Given the description of an element on the screen output the (x, y) to click on. 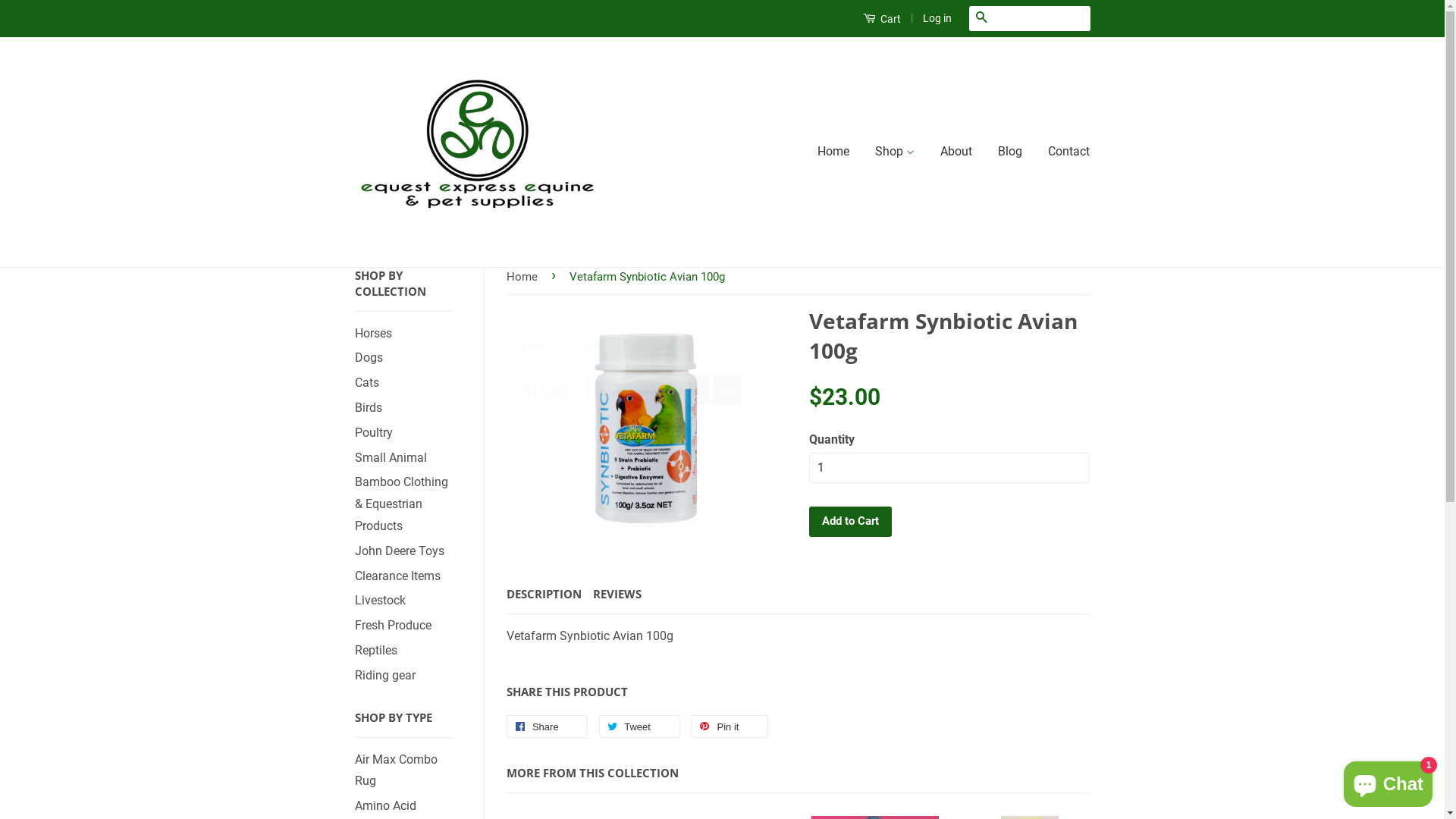
Fresh Produce Element type: text (392, 625)
Poultry Element type: text (373, 432)
Small Animal Element type: text (390, 457)
Home Element type: text (838, 151)
Dogs Element type: text (368, 357)
REVIEWS Element type: text (617, 594)
Livestock Element type: text (379, 600)
Bamboo Clothing & Equestrian Products Element type: text (401, 503)
DESCRIPTION Element type: text (543, 594)
Birds Element type: text (368, 407)
Shopify online store chat Element type: hover (1388, 780)
Cart Element type: text (881, 17)
Cats Element type: text (366, 382)
Riding gear Element type: text (384, 675)
Horses Element type: text (373, 333)
Search Element type: text (981, 18)
Contact Element type: text (1062, 151)
Shop Element type: text (894, 151)
Blog Element type: text (1009, 151)
Home Element type: text (524, 276)
Pin it Element type: text (729, 726)
About Element type: text (955, 151)
Clearance Items Element type: text (397, 575)
Tweet Element type: text (639, 726)
Add to Cart Element type: text (849, 521)
Log in Element type: text (936, 18)
John Deere Toys Element type: text (399, 550)
Reptiles Element type: text (375, 650)
Share Element type: text (547, 726)
Air Max Combo Rug Element type: text (395, 770)
